Given the description of an element on the screen output the (x, y) to click on. 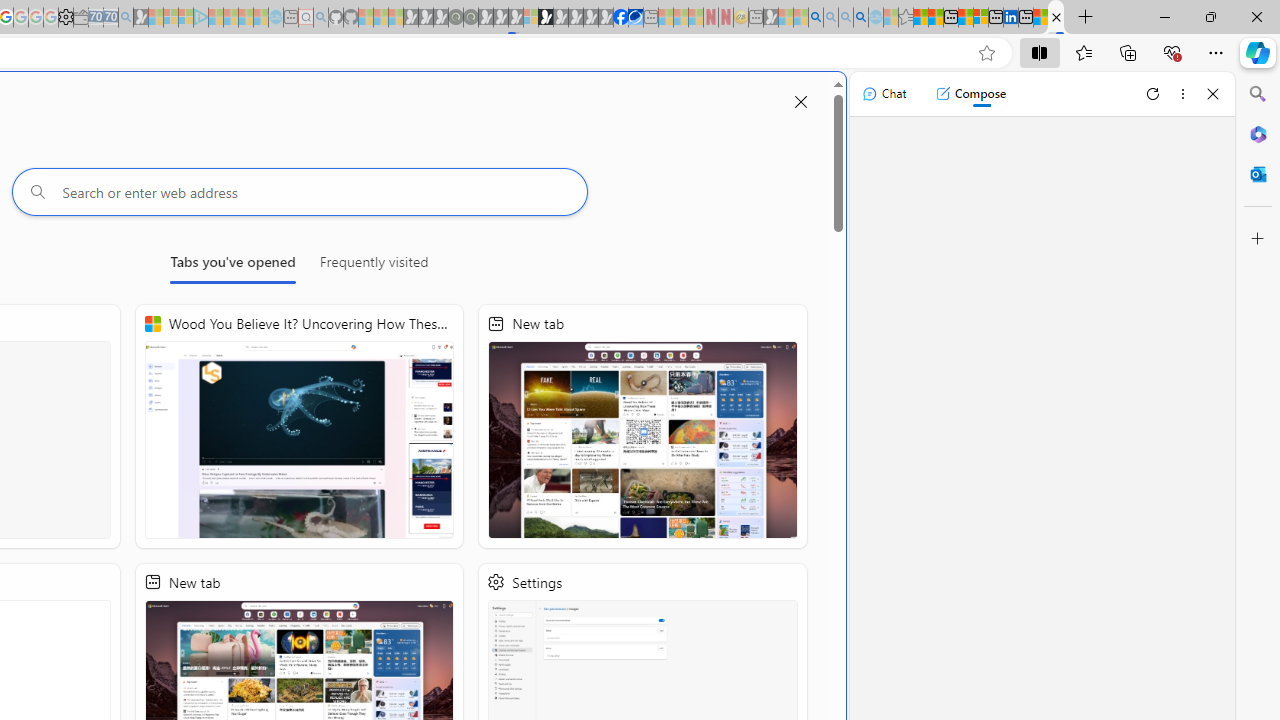
Sign in to your account - Sleeping (530, 17)
Nordace | Facebook (621, 17)
